Given the description of an element on the screen output the (x, y) to click on. 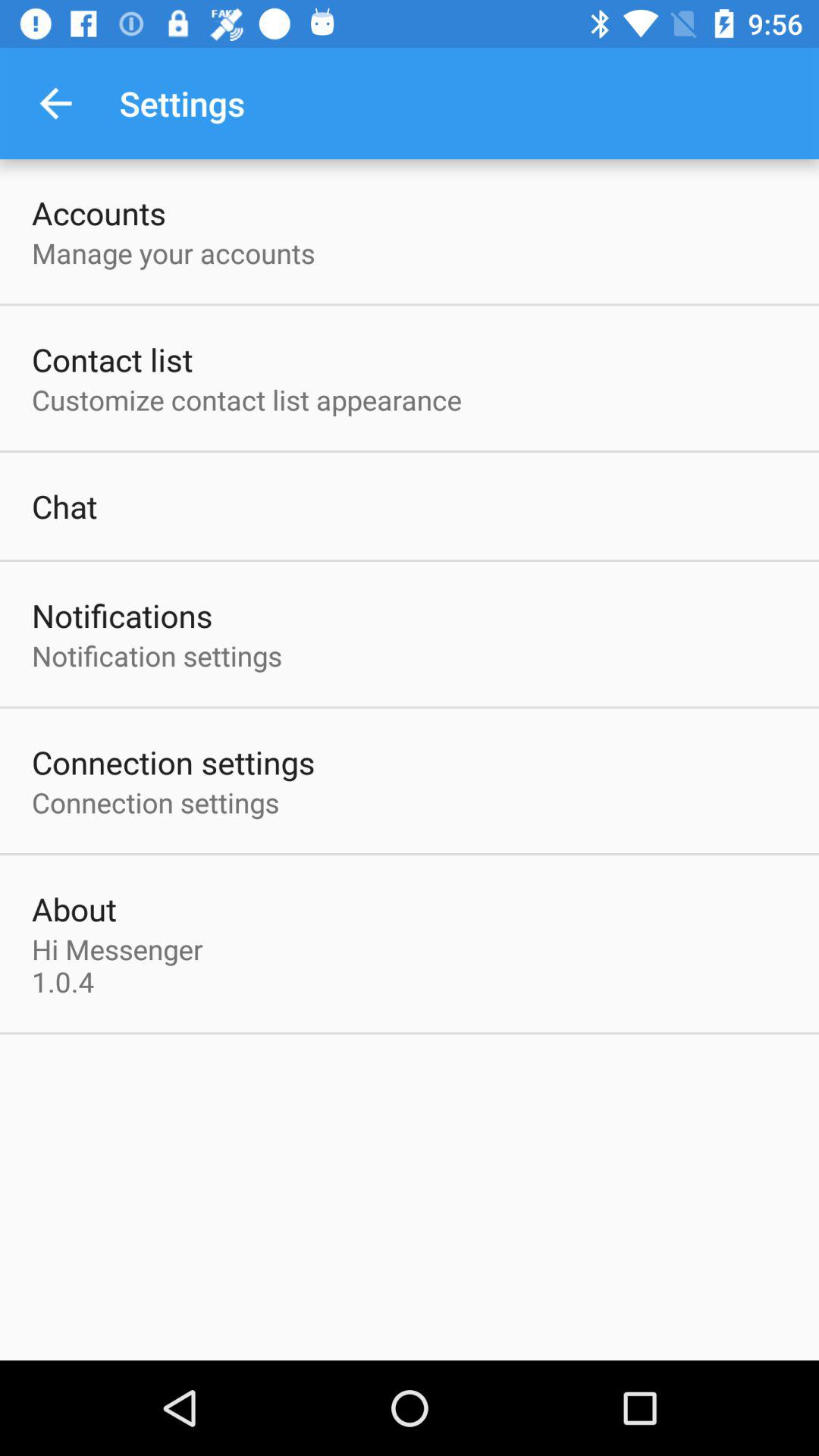
tap hi messenger 1 (121, 965)
